Given the description of an element on the screen output the (x, y) to click on. 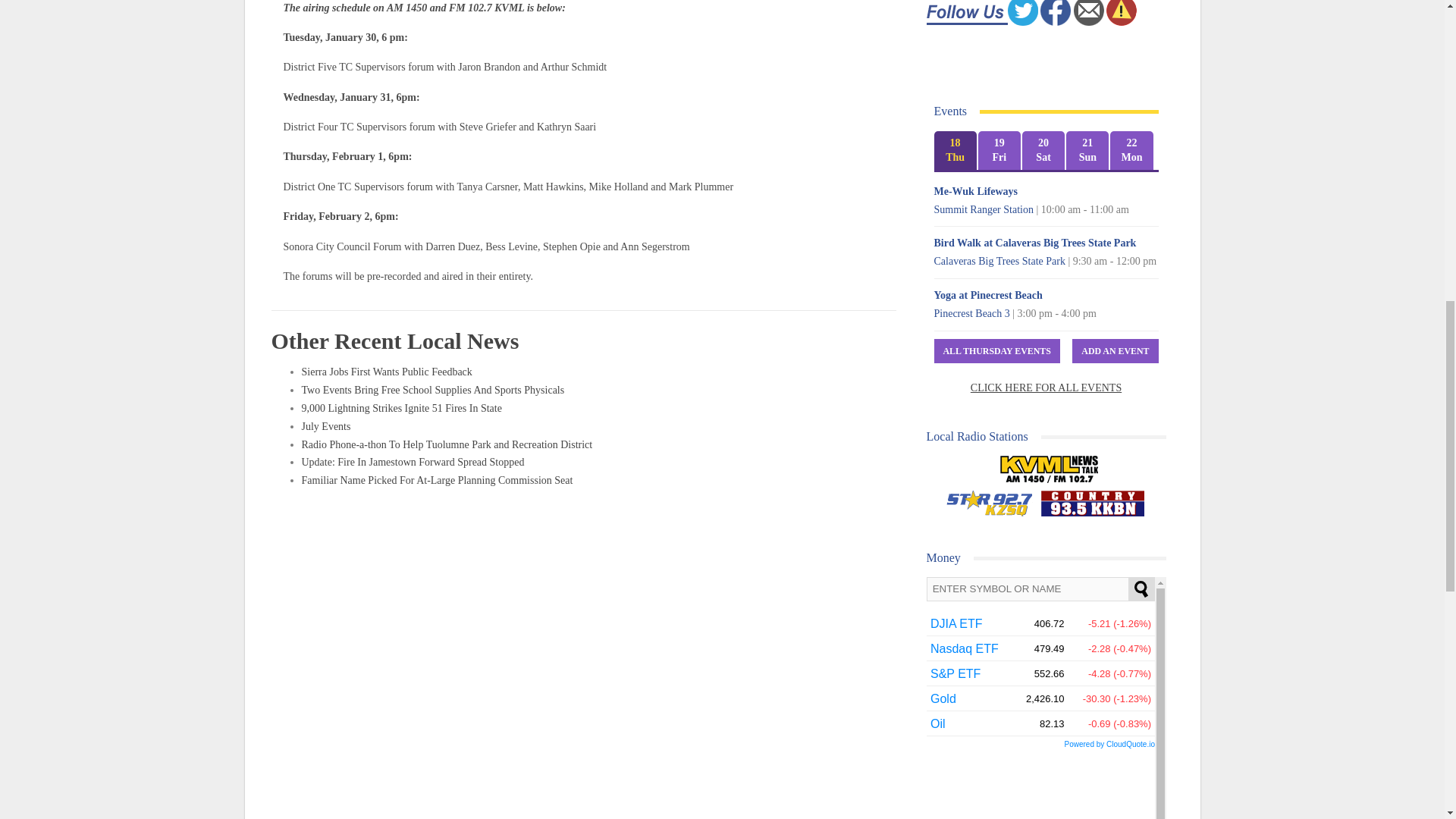
Add An Event (1114, 351)
All Thursday Events (996, 351)
